Given the description of an element on the screen output the (x, y) to click on. 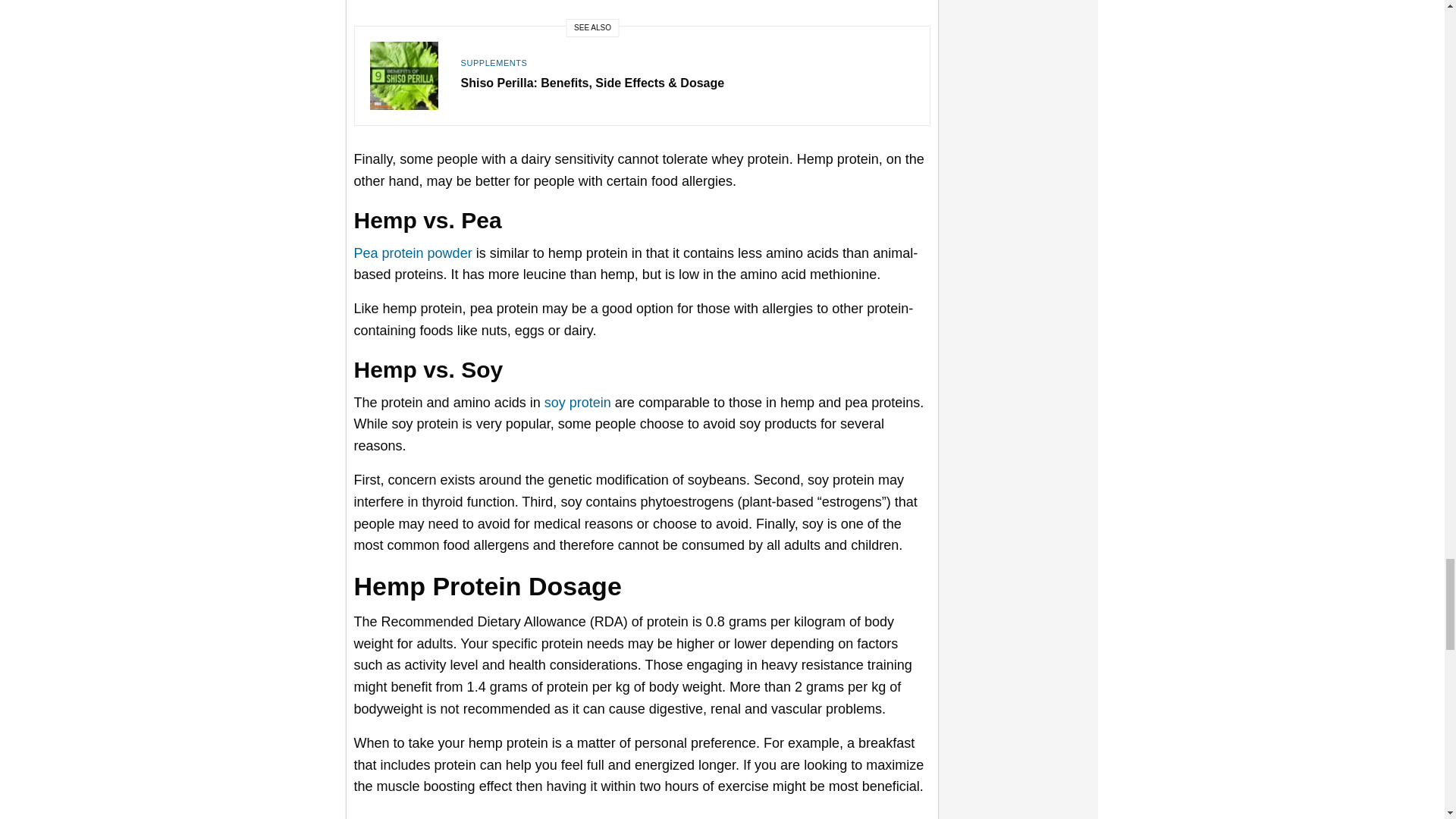
Pea protein powder (412, 253)
soy protein (577, 402)
SUPPLEMENTS (494, 62)
